Given the description of an element on the screen output the (x, y) to click on. 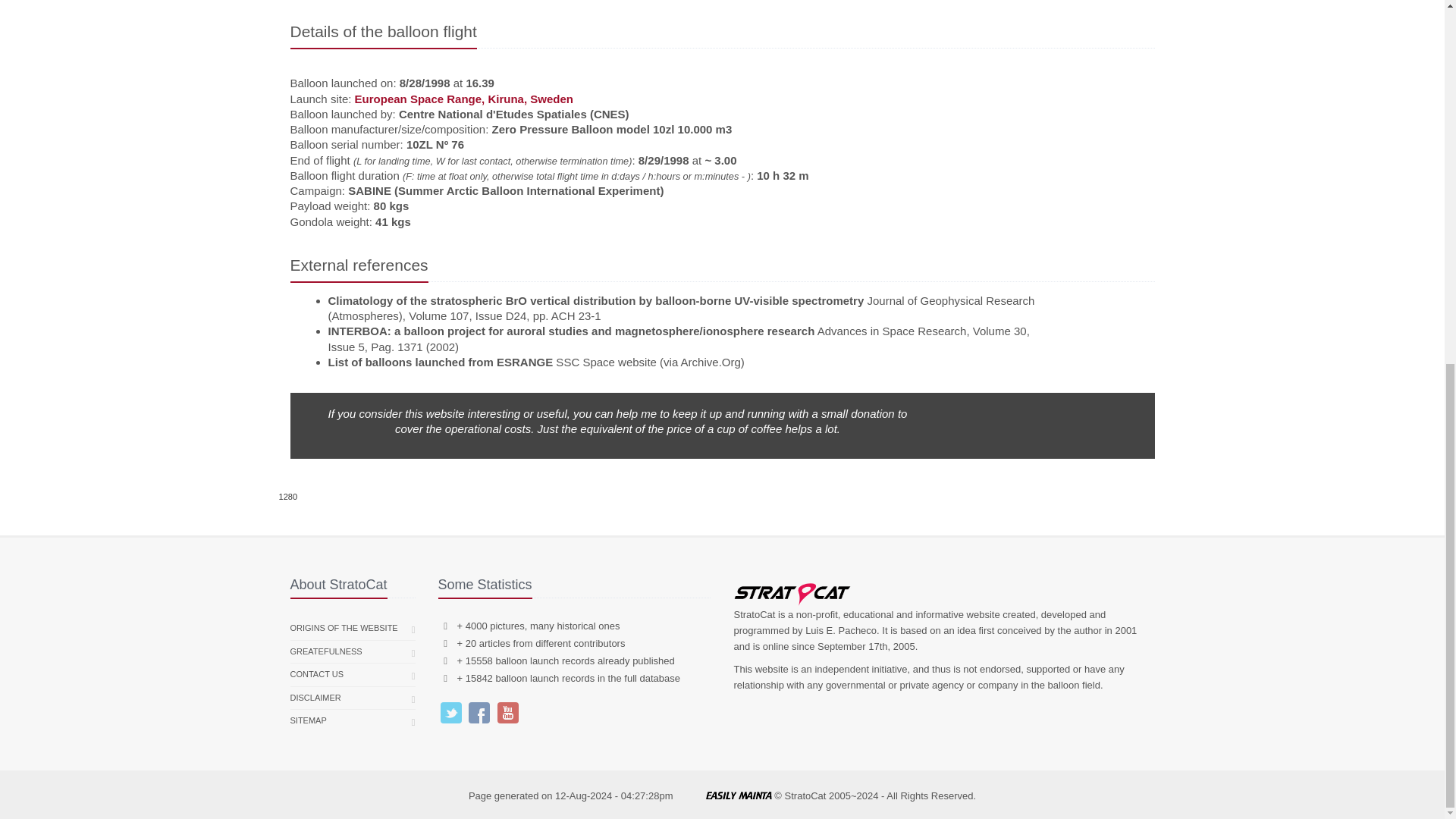
DISCLAIMER (314, 698)
SITEMAP (307, 721)
CONTACT US (316, 674)
GREATEFULNESS (325, 651)
List of balloons launched from ESRANGE (440, 361)
ORIGINS OF THE WEBSITE (343, 628)
European Space Range, Kiruna, Sweden (464, 98)
